Given the description of an element on the screen output the (x, y) to click on. 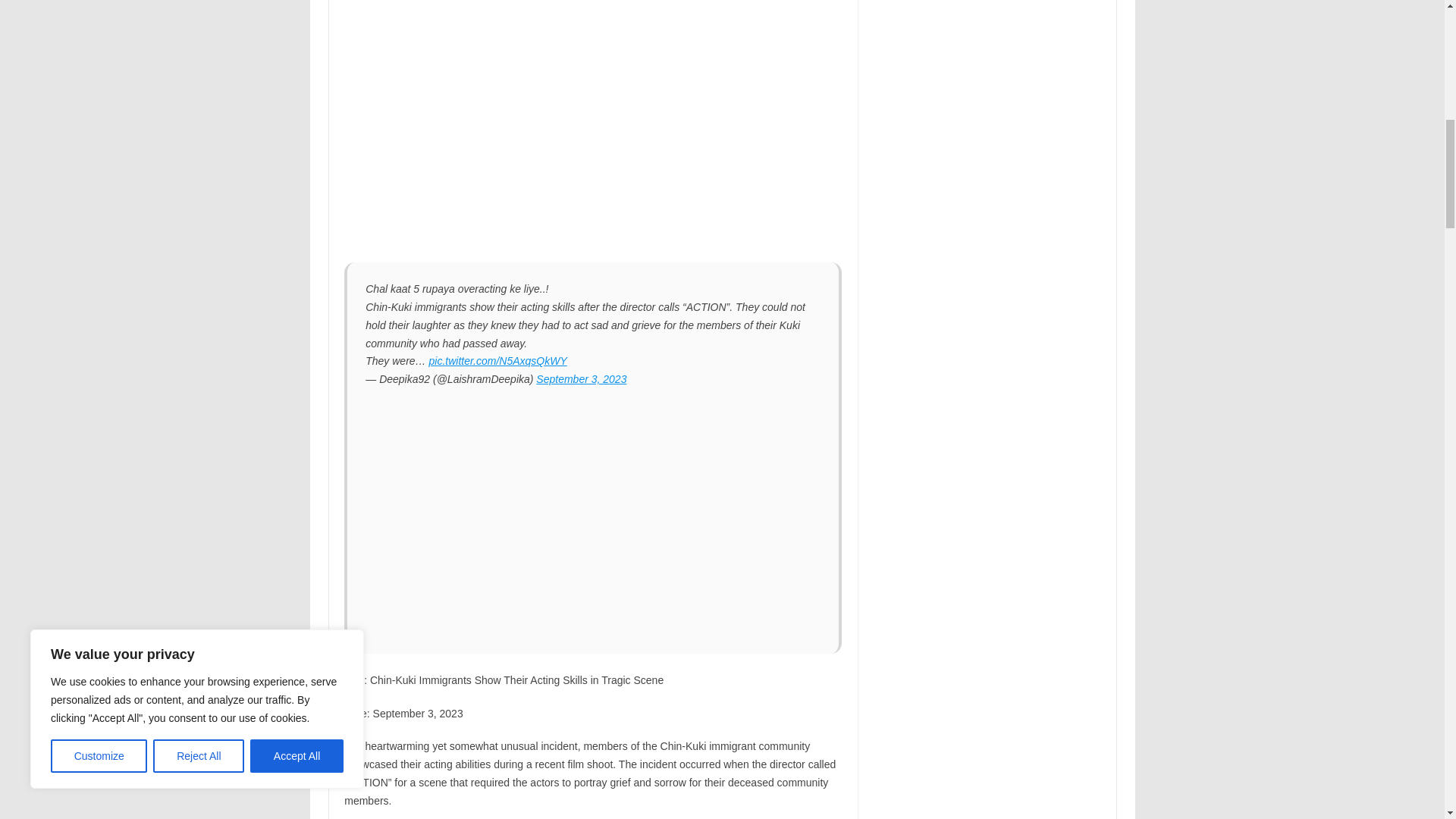
September 3, 2023 (580, 378)
YouTube video player (555, 134)
YouTube video player (577, 508)
